Given the description of an element on the screen output the (x, y) to click on. 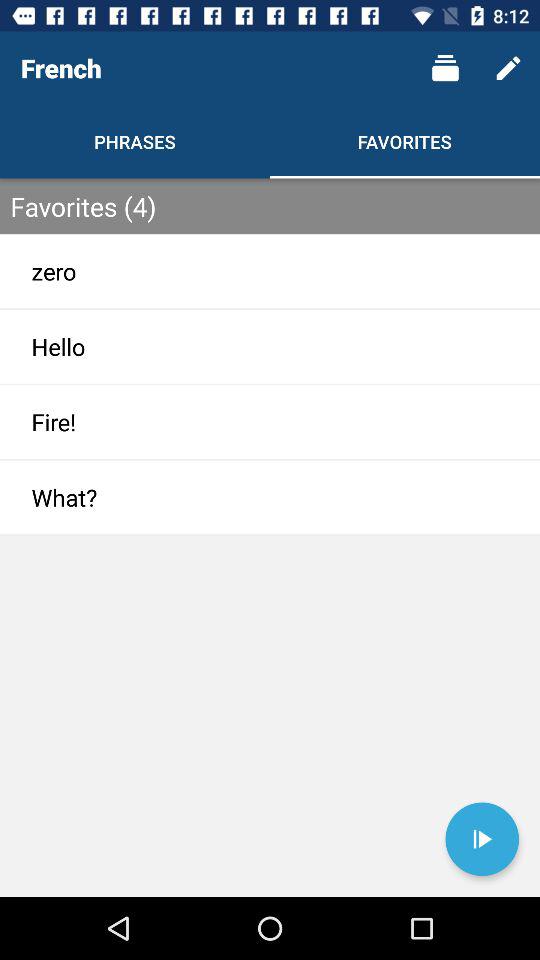
press the item to the right of french icon (444, 67)
